Given the description of an element on the screen output the (x, y) to click on. 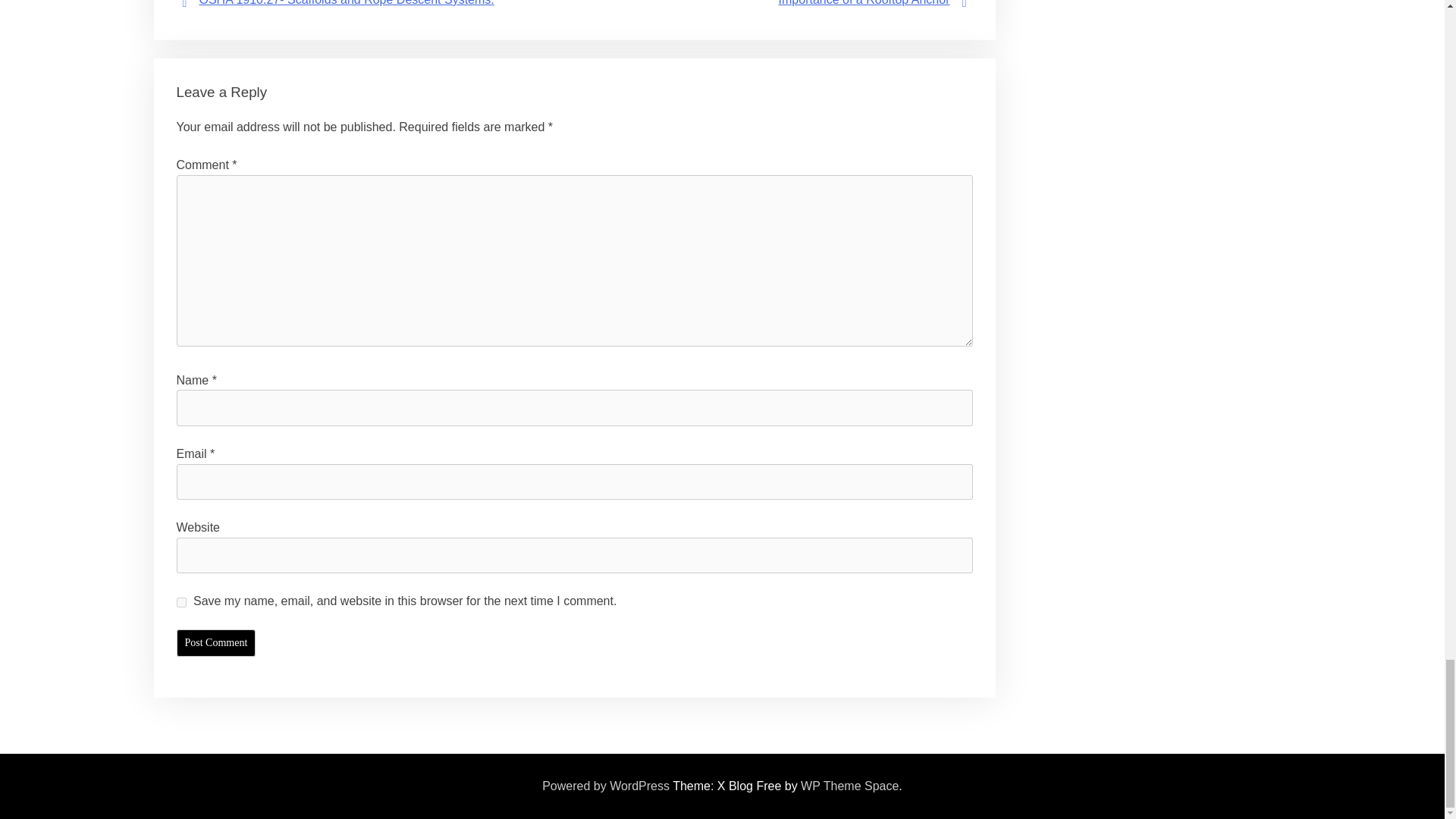
Post Comment (216, 642)
WP Theme Space (849, 786)
OSHA 1910.27- Scaffolds and Rope Descent Systems. (345, 2)
Post Comment (216, 642)
Powered by WordPress (605, 786)
yes (181, 602)
Importance of a Rooftop Anchor (864, 2)
